Given the description of an element on the screen output the (x, y) to click on. 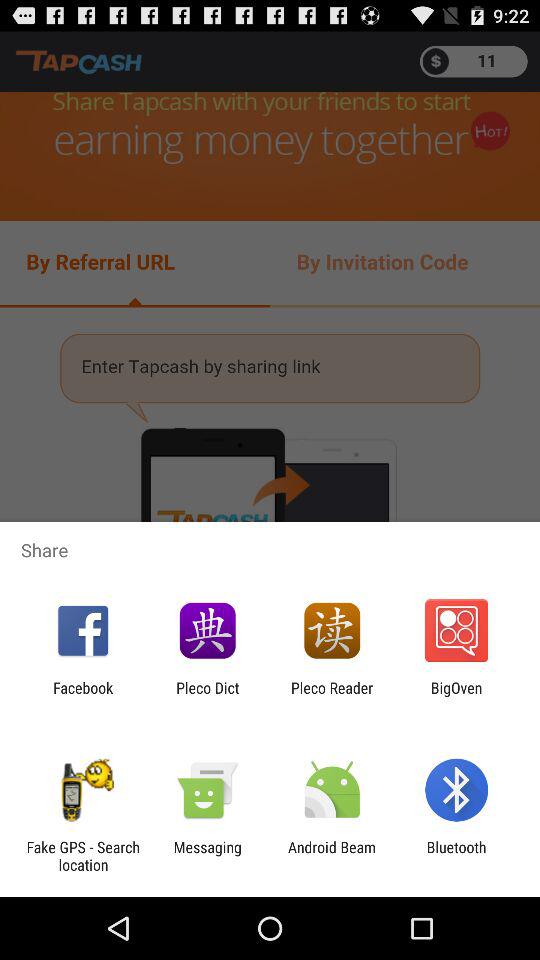
scroll until the messaging app (207, 856)
